Given the description of an element on the screen output the (x, y) to click on. 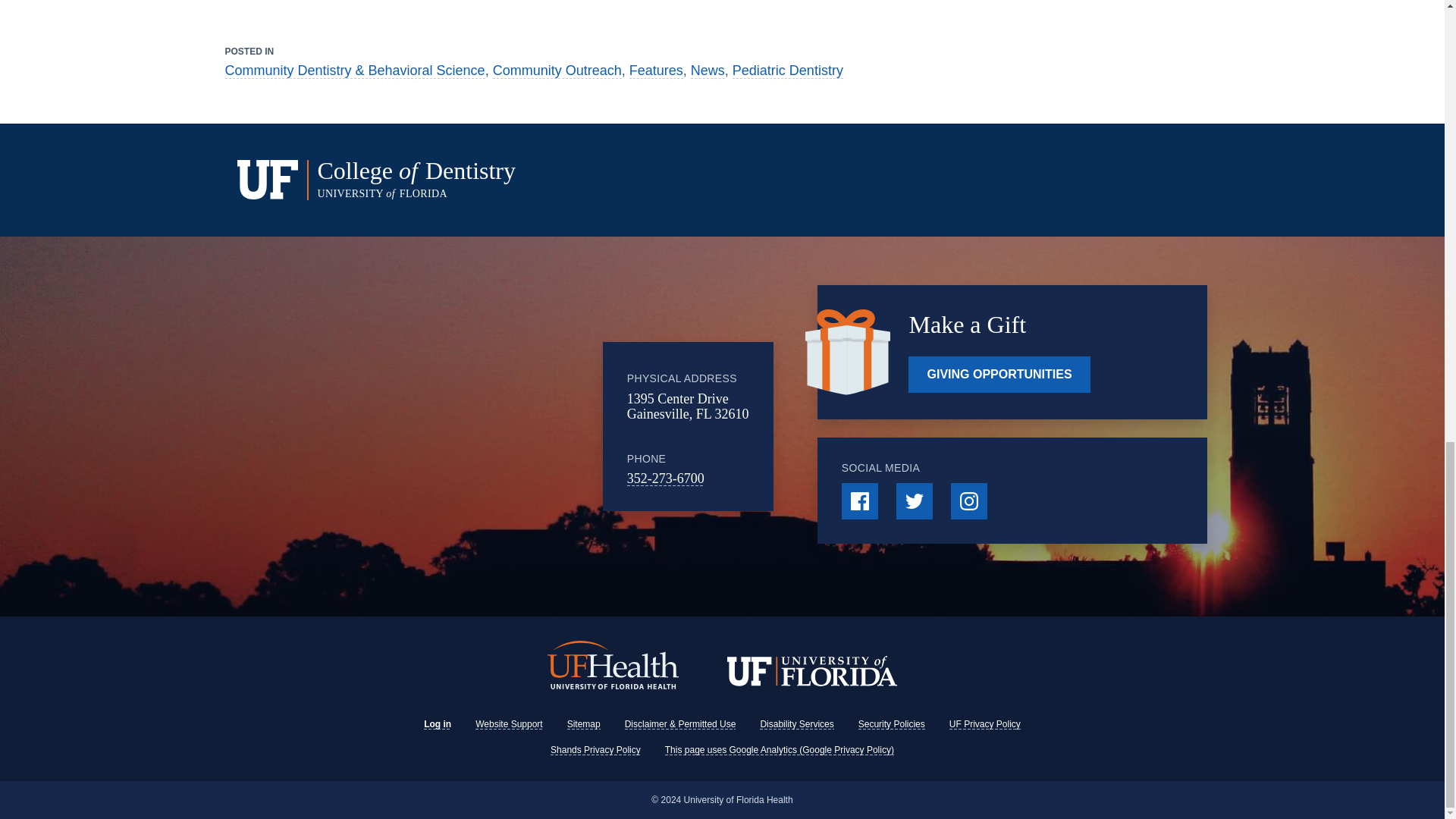
Log in (437, 724)
Shands Privacy Policy (595, 749)
UF Privacy Policy (984, 724)
352-273-6700 (665, 478)
Website Support (509, 724)
Disability Services (796, 724)
Google Maps Embed (478, 426)
Security Policies (891, 724)
Sitemap (583, 724)
